Given the description of an element on the screen output the (x, y) to click on. 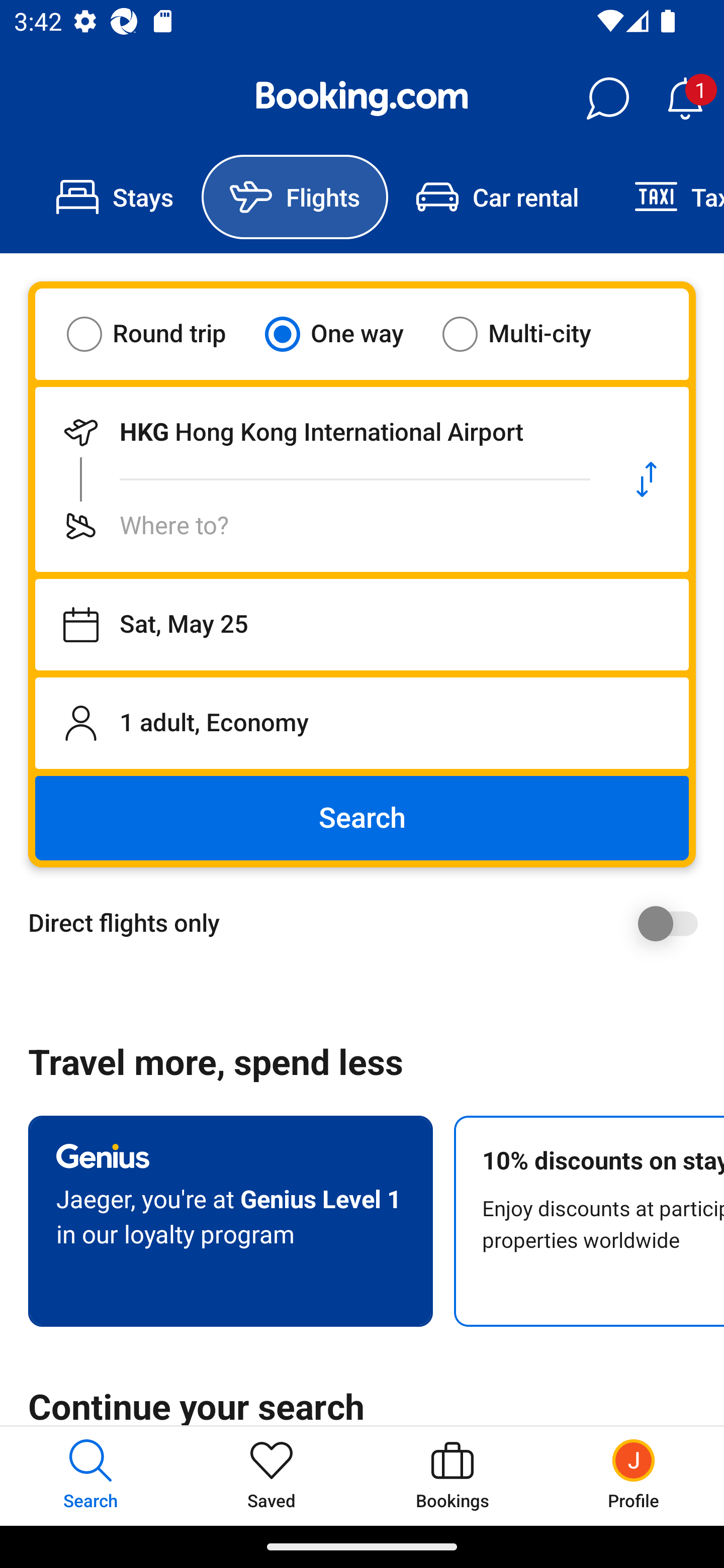
Messages (607, 98)
Notifications (685, 98)
Stays (114, 197)
Flights (294, 197)
Car rental (497, 197)
Taxi (665, 197)
Round trip (158, 333)
Multi-city (528, 333)
Departing from HKG Hong Kong International Airport (319, 432)
Swap departure location and destination (646, 479)
Flying to  (319, 525)
Departing on Sat, May 25 (361, 624)
1 adult, Economy (361, 722)
Search (361, 818)
Direct flights only (369, 923)
Saved (271, 1475)
Bookings (452, 1475)
Profile (633, 1475)
